Given the description of an element on the screen output the (x, y) to click on. 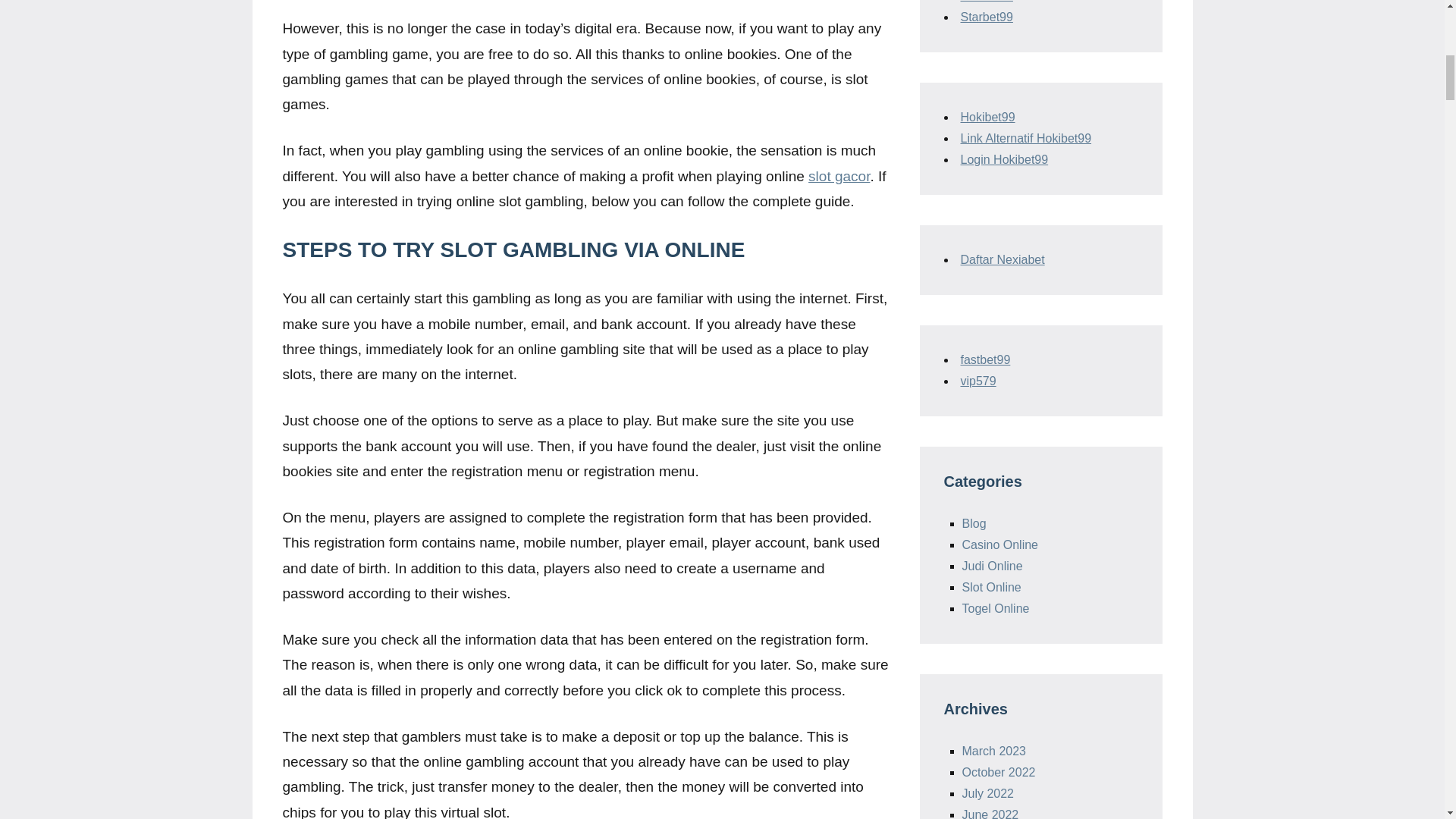
slot gacor (838, 176)
